Given the description of an element on the screen output the (x, y) to click on. 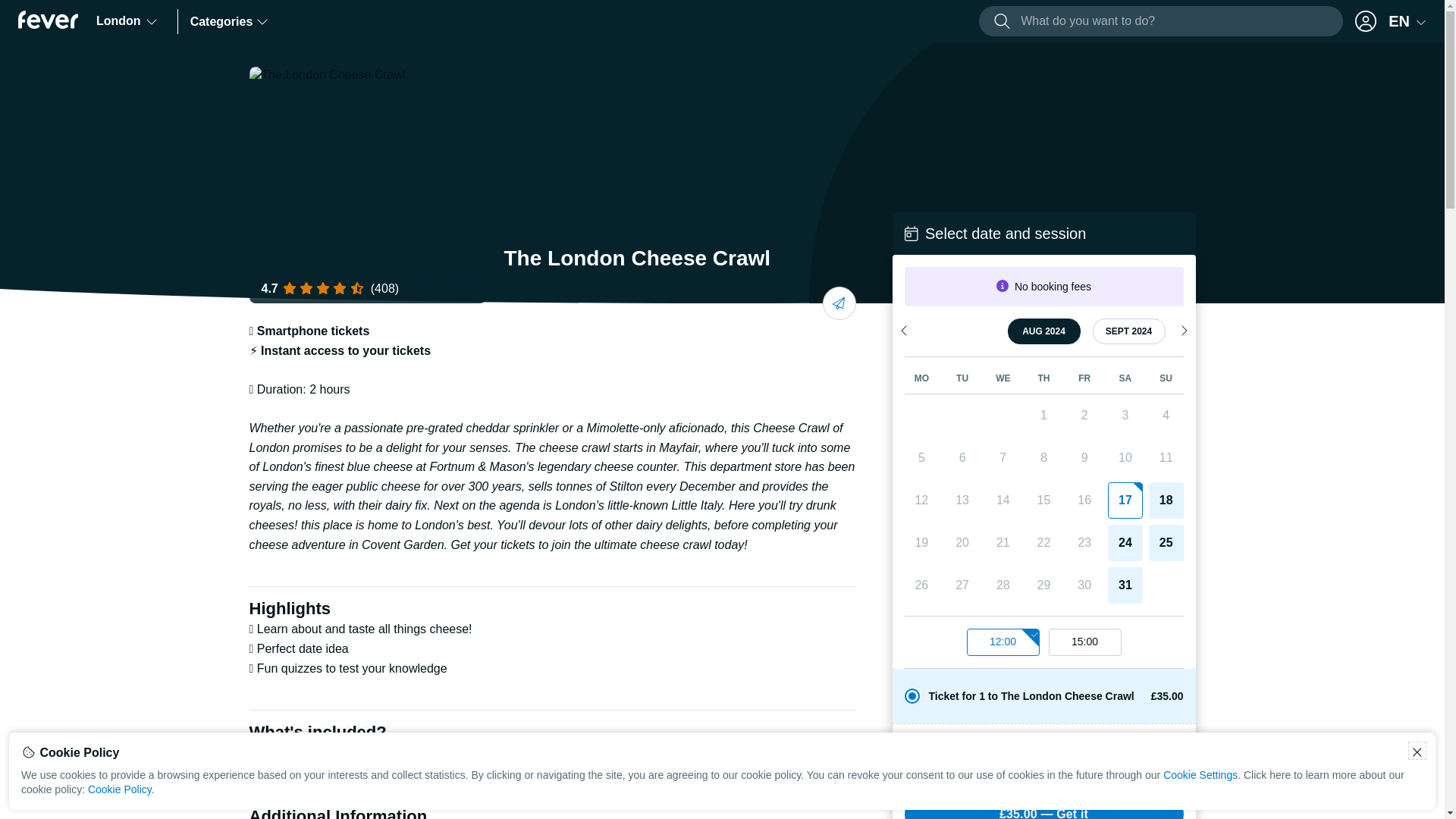
The London Cheese Crawl (366, 184)
London (127, 21)
